Given the description of an element on the screen output the (x, y) to click on. 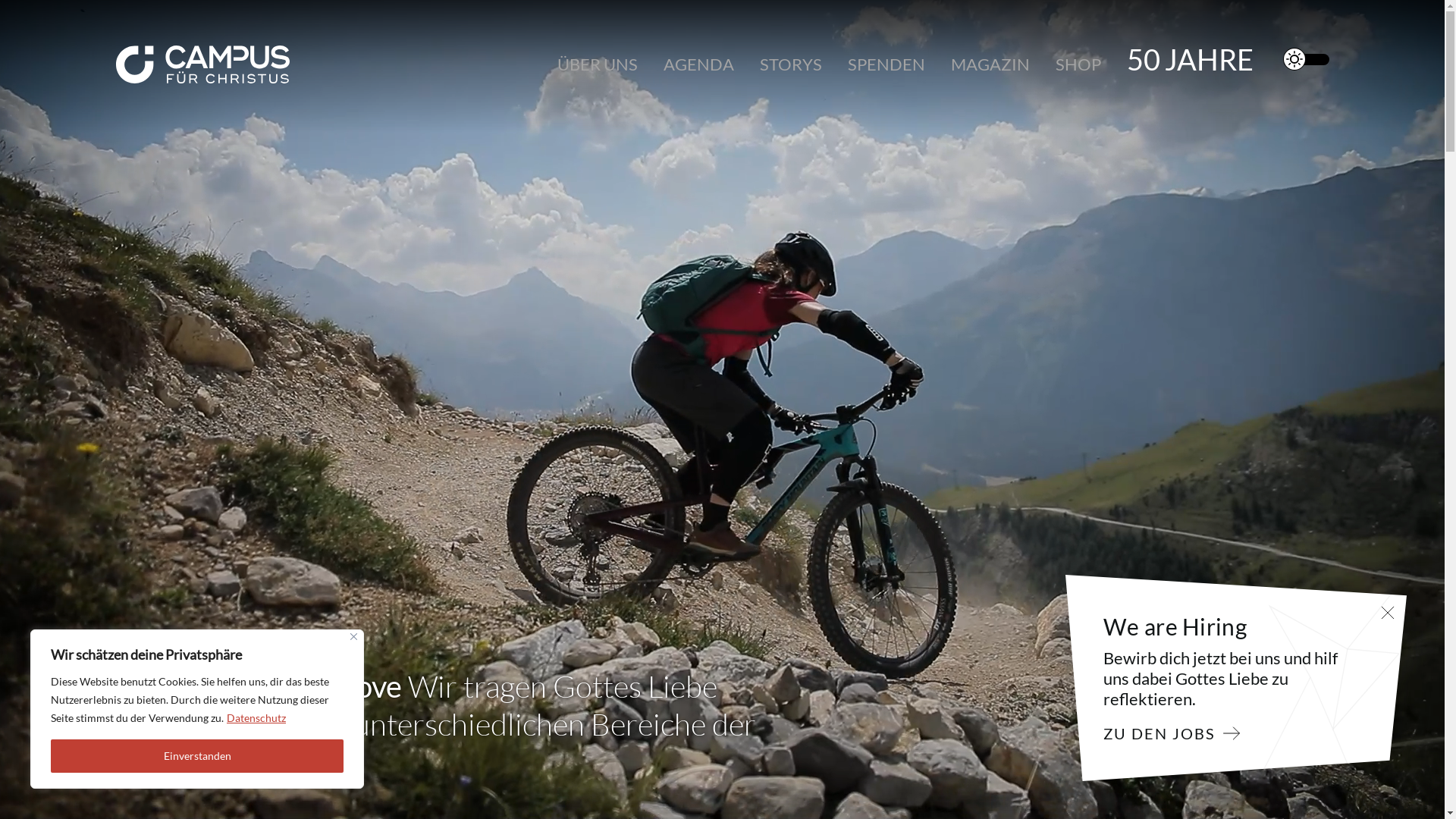
SHOP Element type: text (1078, 63)
AGENDA Element type: text (697, 63)
49
50
JAHRE Element type: text (1189, 59)
STORYS Element type: text (790, 63)
ZU DEN JOBS Element type: text (1163, 733)
Einverstanden Element type: text (196, 755)
MAGAZIN Element type: text (989, 63)
SPENDEN Element type: text (886, 63)
Datenschutz Element type: text (255, 717)
